Given the description of an element on the screen output the (x, y) to click on. 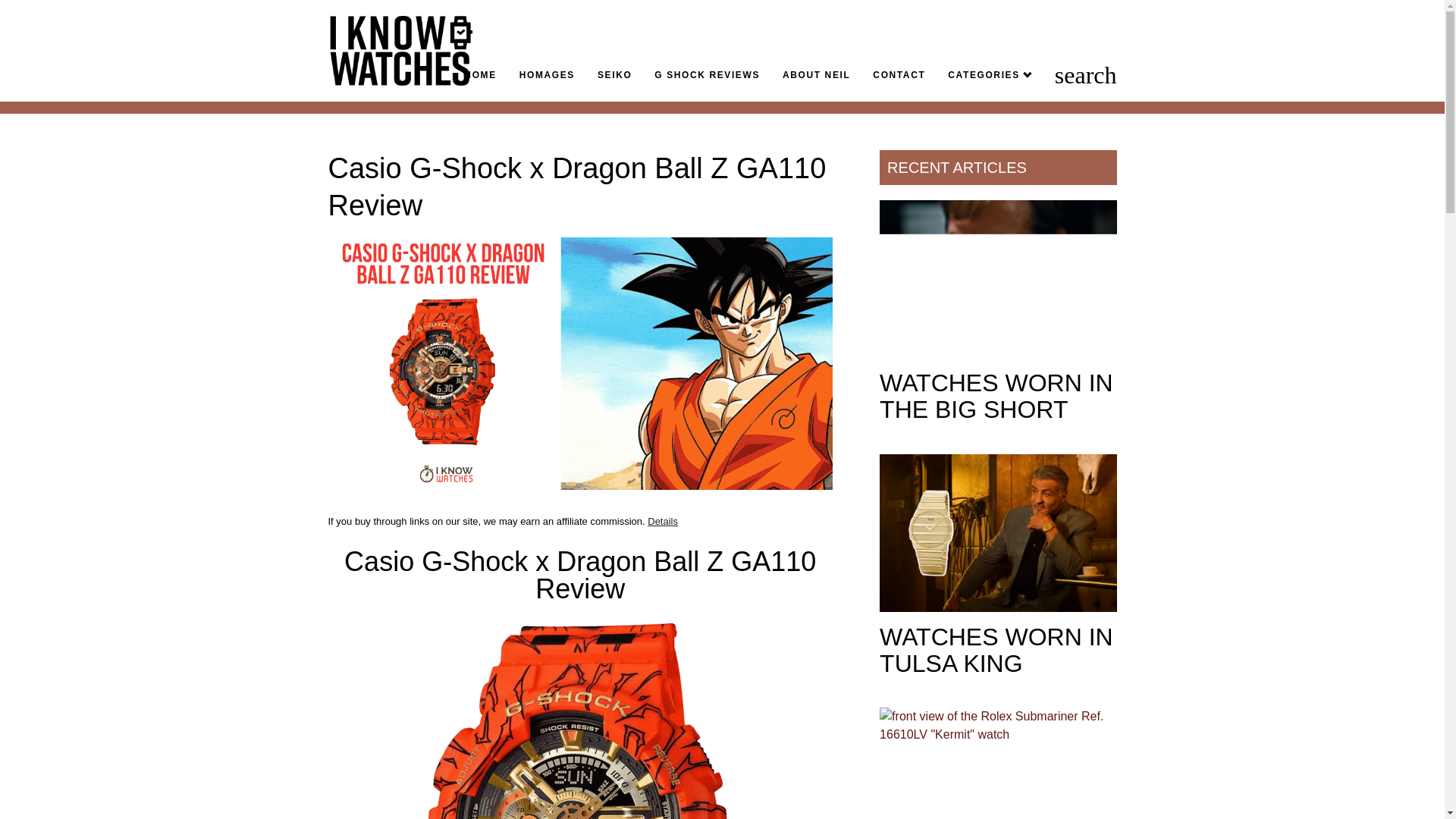
Details (662, 521)
search (1085, 74)
G SHOCK REVIEWS (706, 74)
HOME (480, 74)
G Shock Dragon Ball Z GA110JDB (580, 718)
ABOUT NEIL (816, 74)
CATEGORIES (988, 74)
CONTACT (898, 74)
SEIKO (613, 74)
HOMAGES (547, 74)
